Given the description of an element on the screen output the (x, y) to click on. 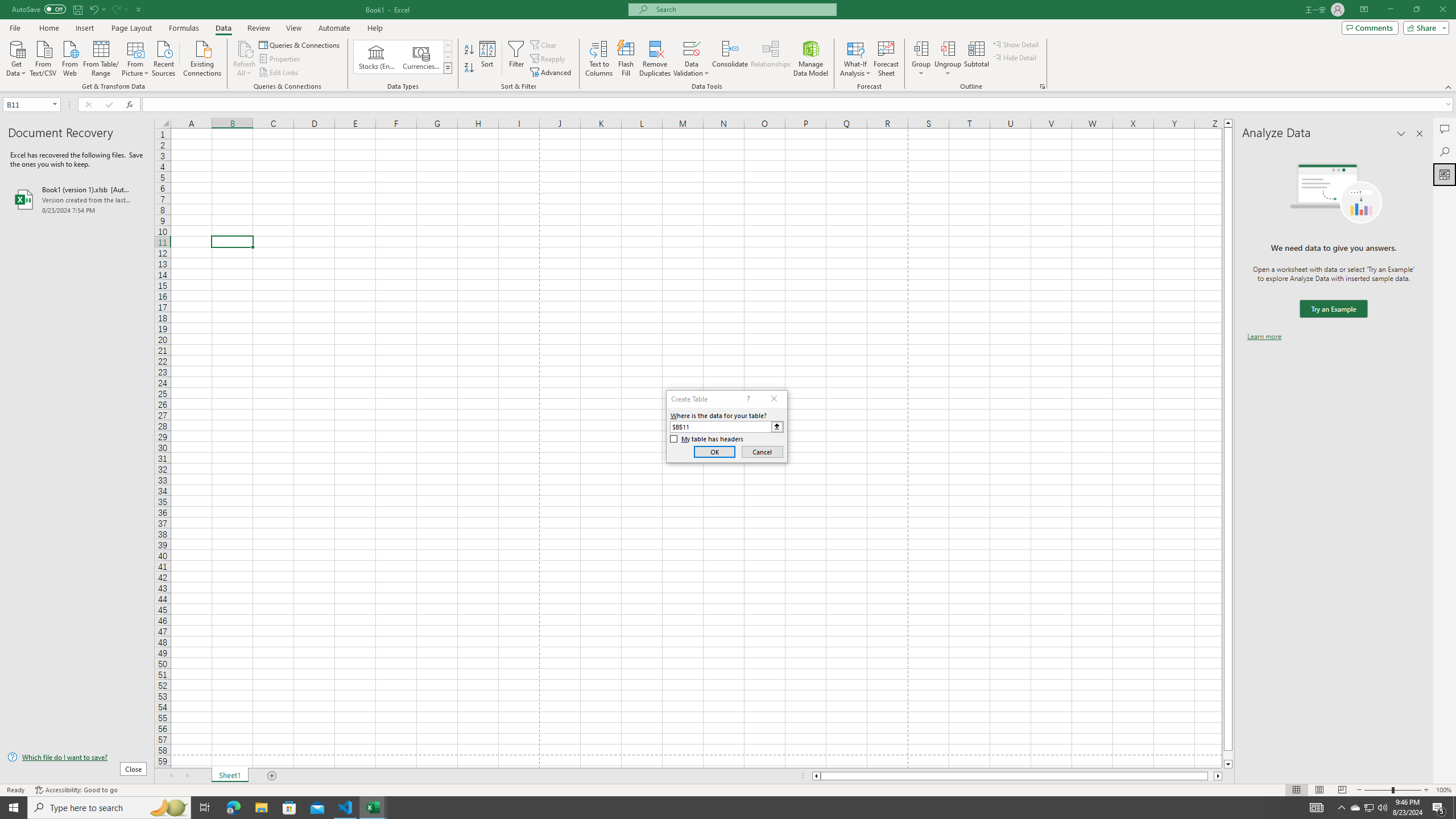
Sort... (487, 58)
Formula Bar (799, 104)
Show Detail (1016, 44)
Data Types (448, 67)
Which file do I want to save? (77, 757)
Flash Fill (625, 58)
Group... (921, 58)
Group and Outline Settings (1042, 85)
Book1 (version 1).xlsb  [AutoRecovered] (77, 199)
Home (48, 28)
Open (54, 104)
Hide Detail (1014, 56)
Subtotal (976, 58)
Sheet1 (229, 775)
